Given the description of an element on the screen output the (x, y) to click on. 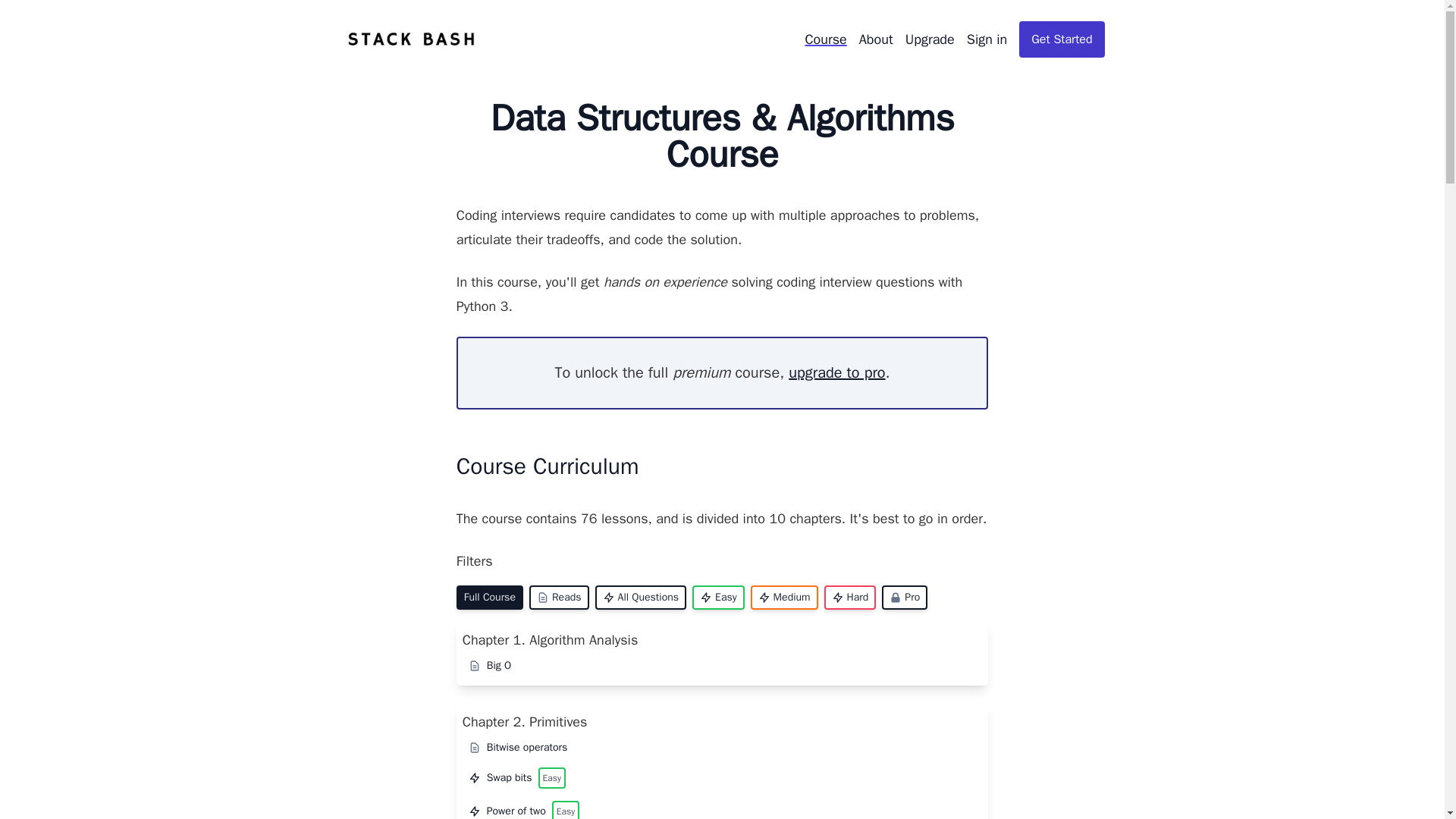
Reads (559, 597)
All Questions (641, 597)
Pro (904, 597)
Easy (718, 597)
About (876, 38)
Hard (850, 597)
Sign in (986, 38)
upgrade to pro (837, 372)
Get Started (1061, 39)
Medium (784, 597)
